Given the description of an element on the screen output the (x, y) to click on. 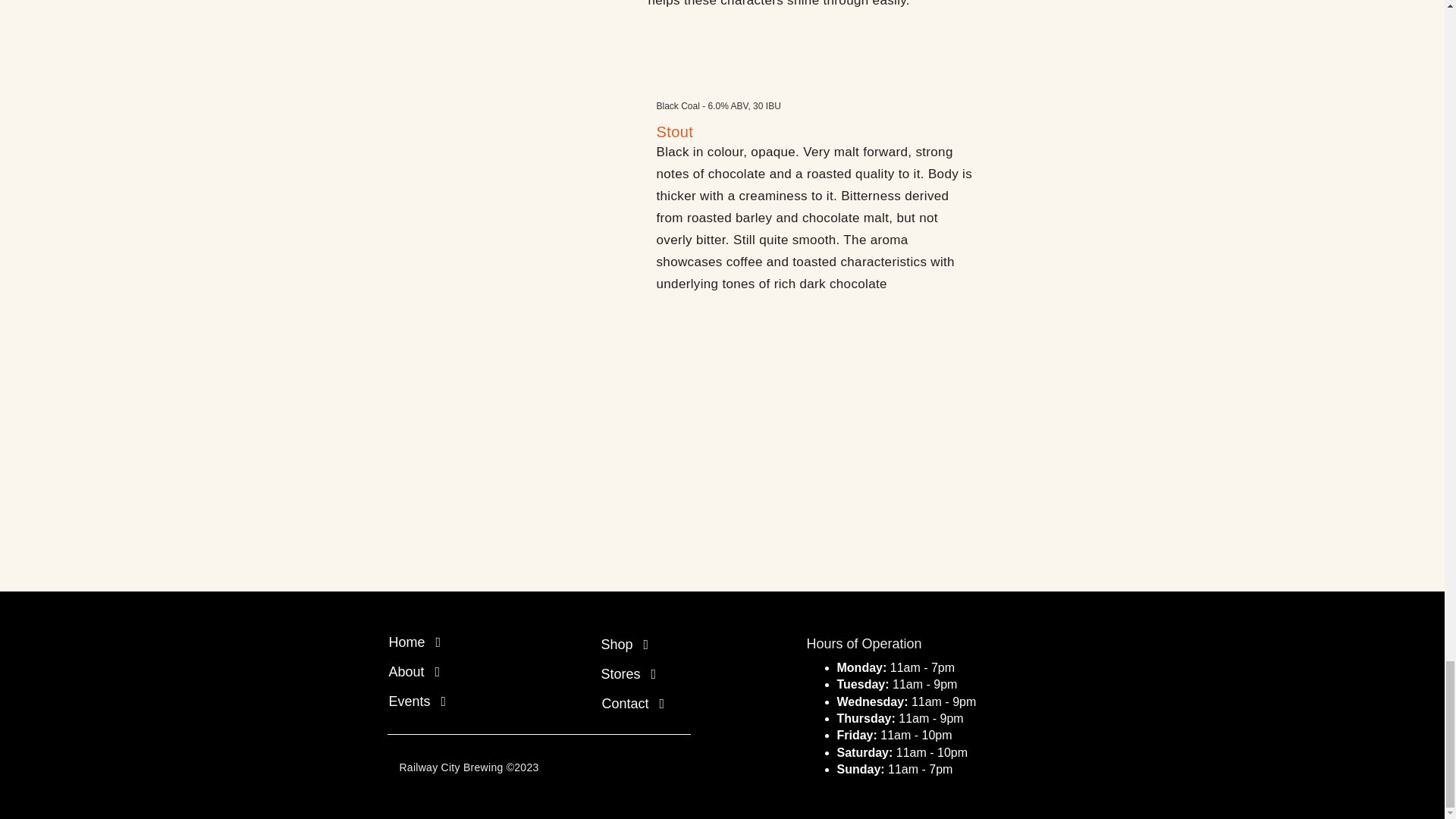
Events (464, 701)
Shop (675, 644)
Stores (675, 673)
Contact (678, 703)
Home (464, 641)
About (464, 671)
